Given the description of an element on the screen output the (x, y) to click on. 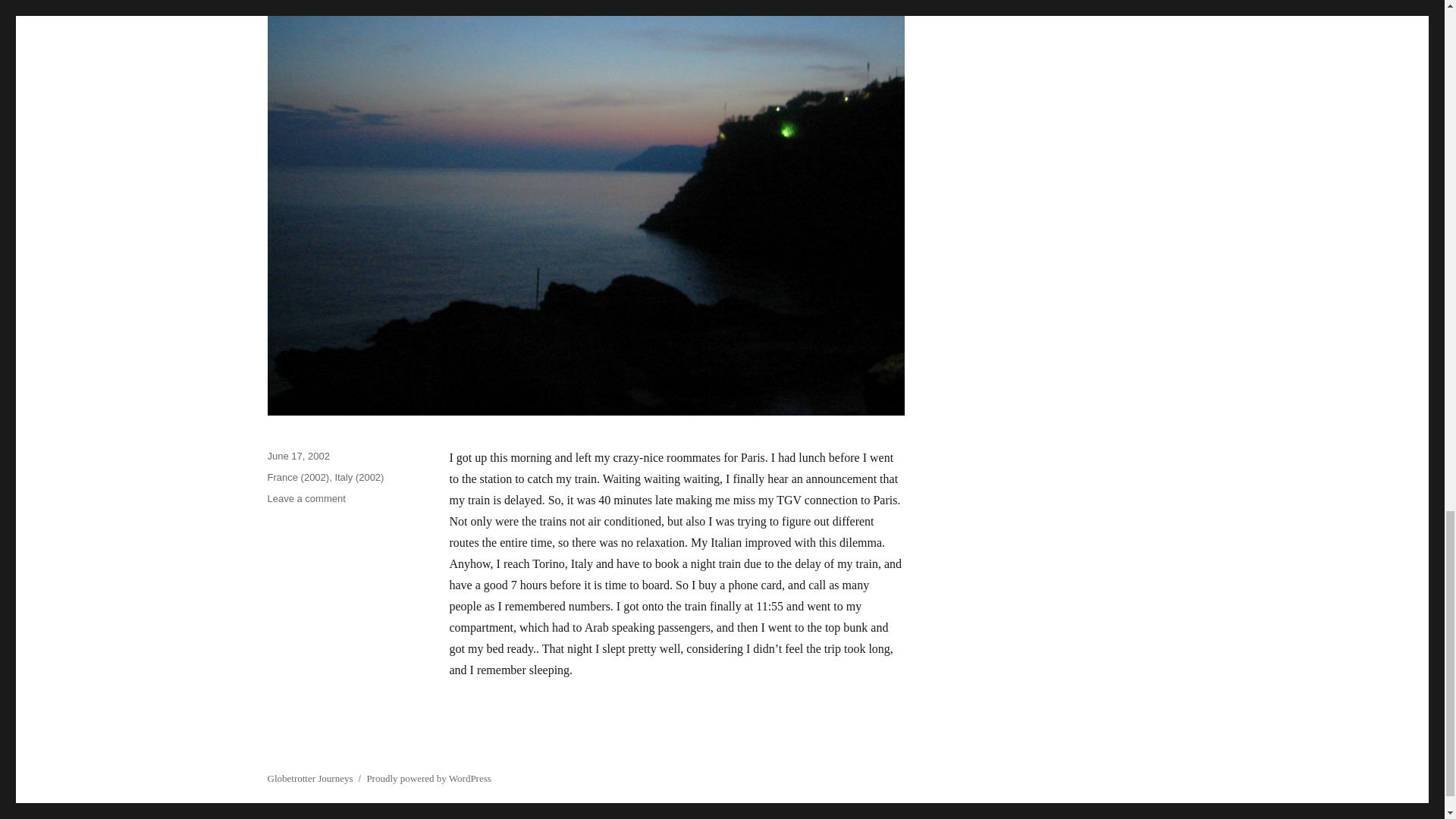
Proudly powered by WordPress (428, 778)
Globetrotter Journeys (305, 498)
June 17, 2002 (309, 778)
